Given the description of an element on the screen output the (x, y) to click on. 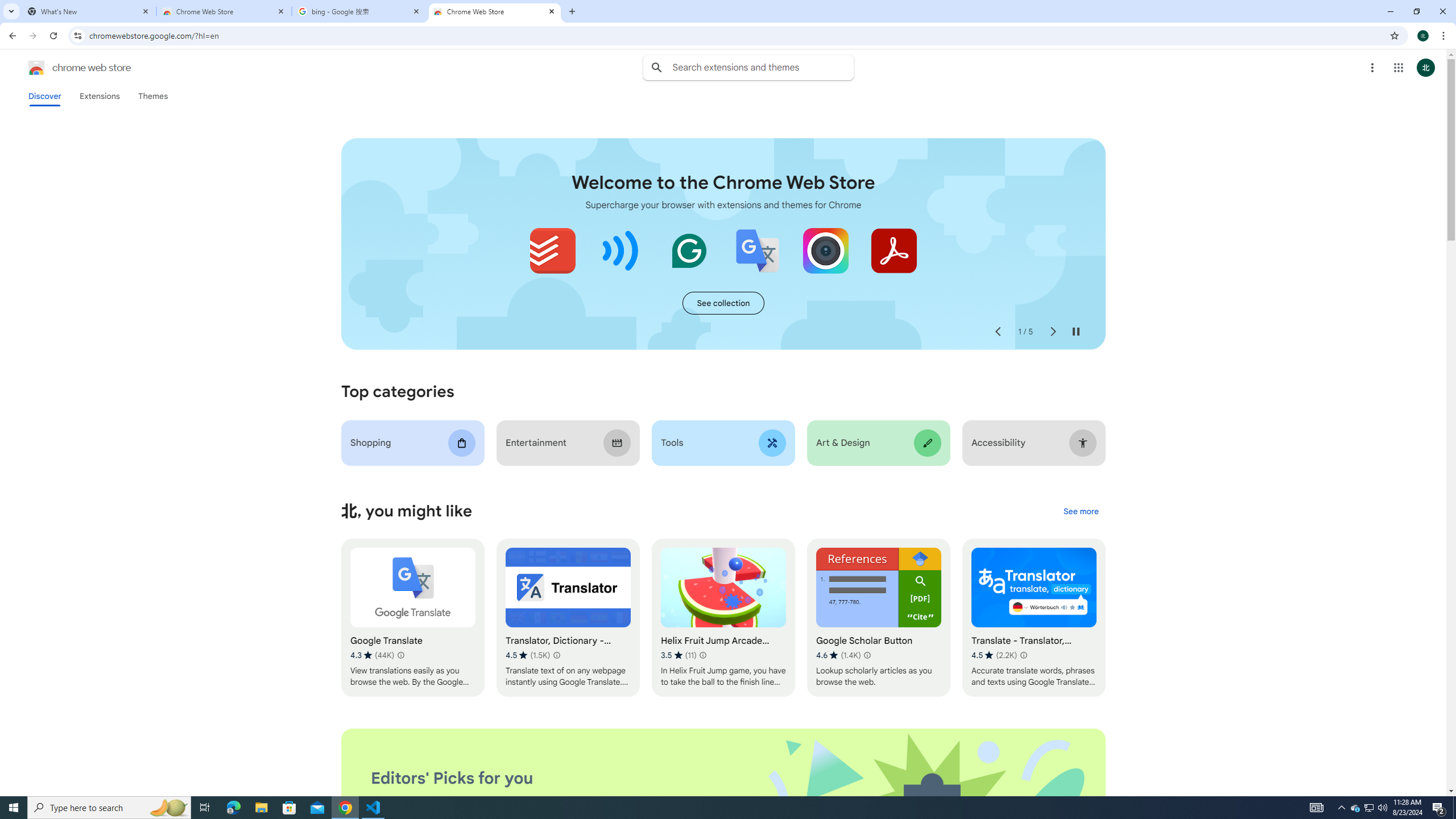
Adobe Acrobat: PDF edit, convert, sign tools (893, 250)
Average rating 4.3 out of 5 stars. 44K ratings. (371, 655)
Extensions (99, 95)
Shopping (412, 443)
Chrome Web Store logo chrome web store (67, 67)
Chrome Web Store (494, 11)
Chrome Web Store (224, 11)
Todoist for Chrome (552, 250)
Google Scholar Button (878, 617)
Chrome Web Store logo (36, 67)
See more personalized recommendations (1080, 511)
Translator, Dictionary - Accurate Translate (567, 617)
